Given the description of an element on the screen output the (x, y) to click on. 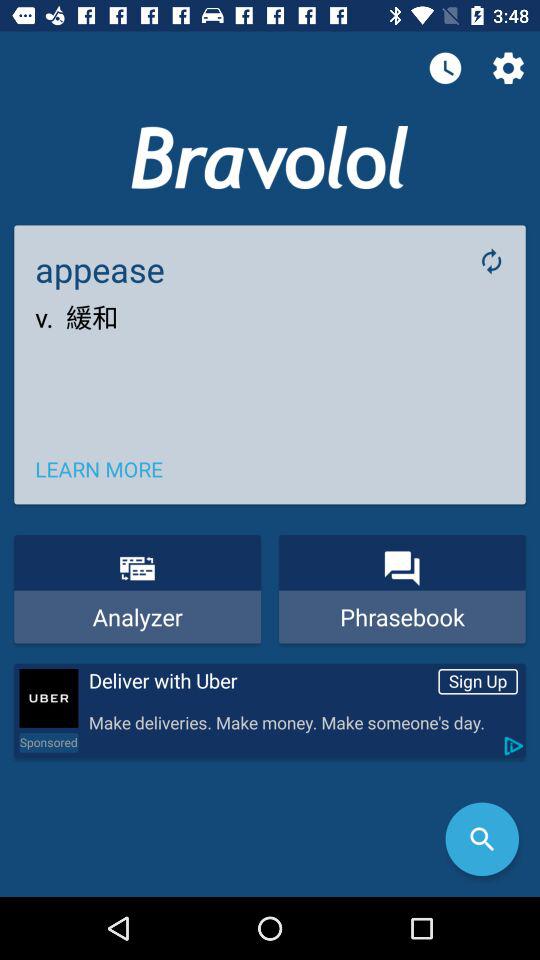
search button (482, 839)
